Given the description of an element on the screen output the (x, y) to click on. 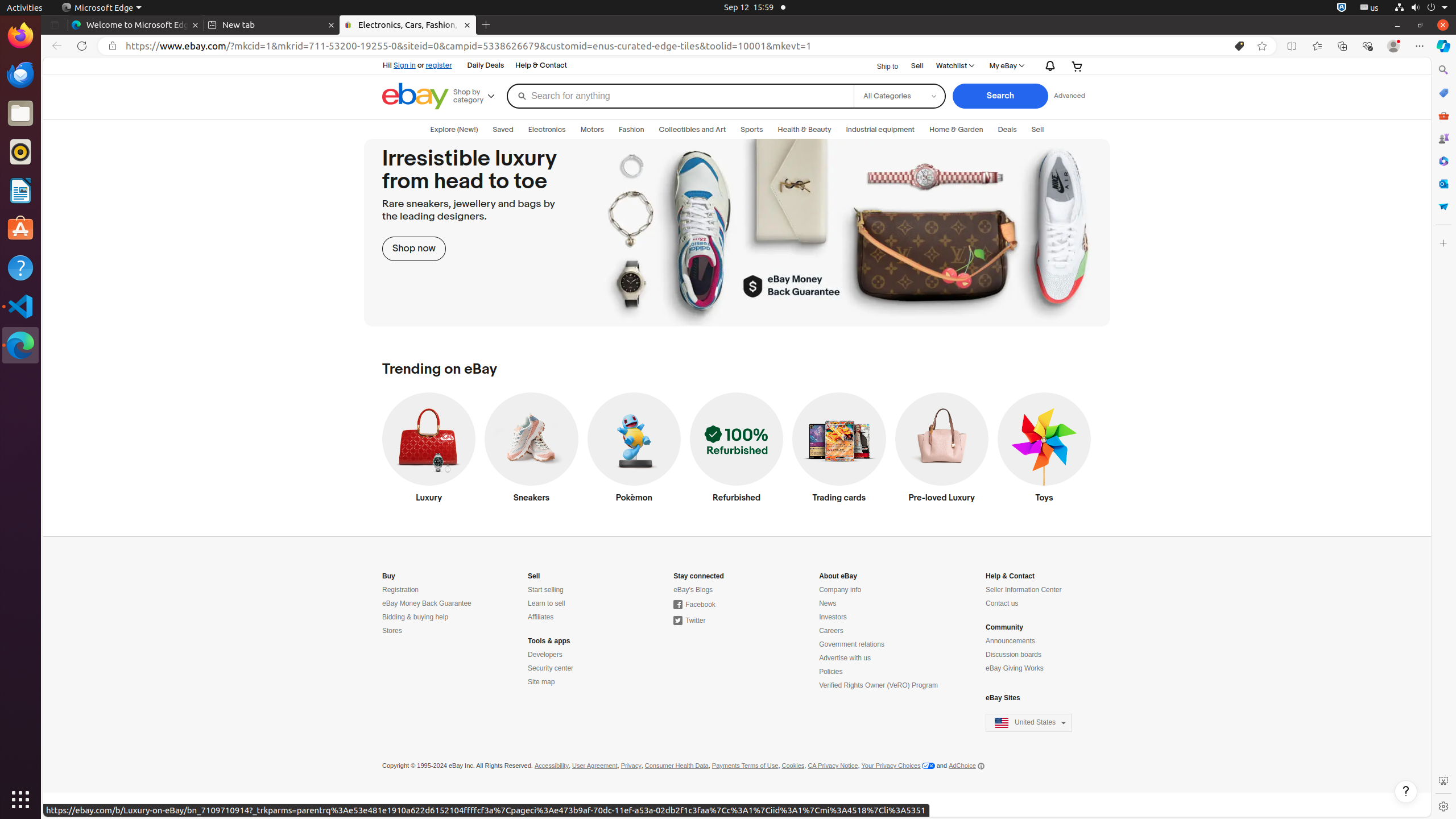
Investors Element type: link (832, 617)
Thunderbird Mail Element type: push-button (20, 74)
Explore (New!) Element type: link (453, 129)
Microsoft Shopping Element type: push-button (1443, 92)
Add this page to favorites (Ctrl+D) Element type: push-button (1261, 46)
